Given the description of an element on the screen output the (x, y) to click on. 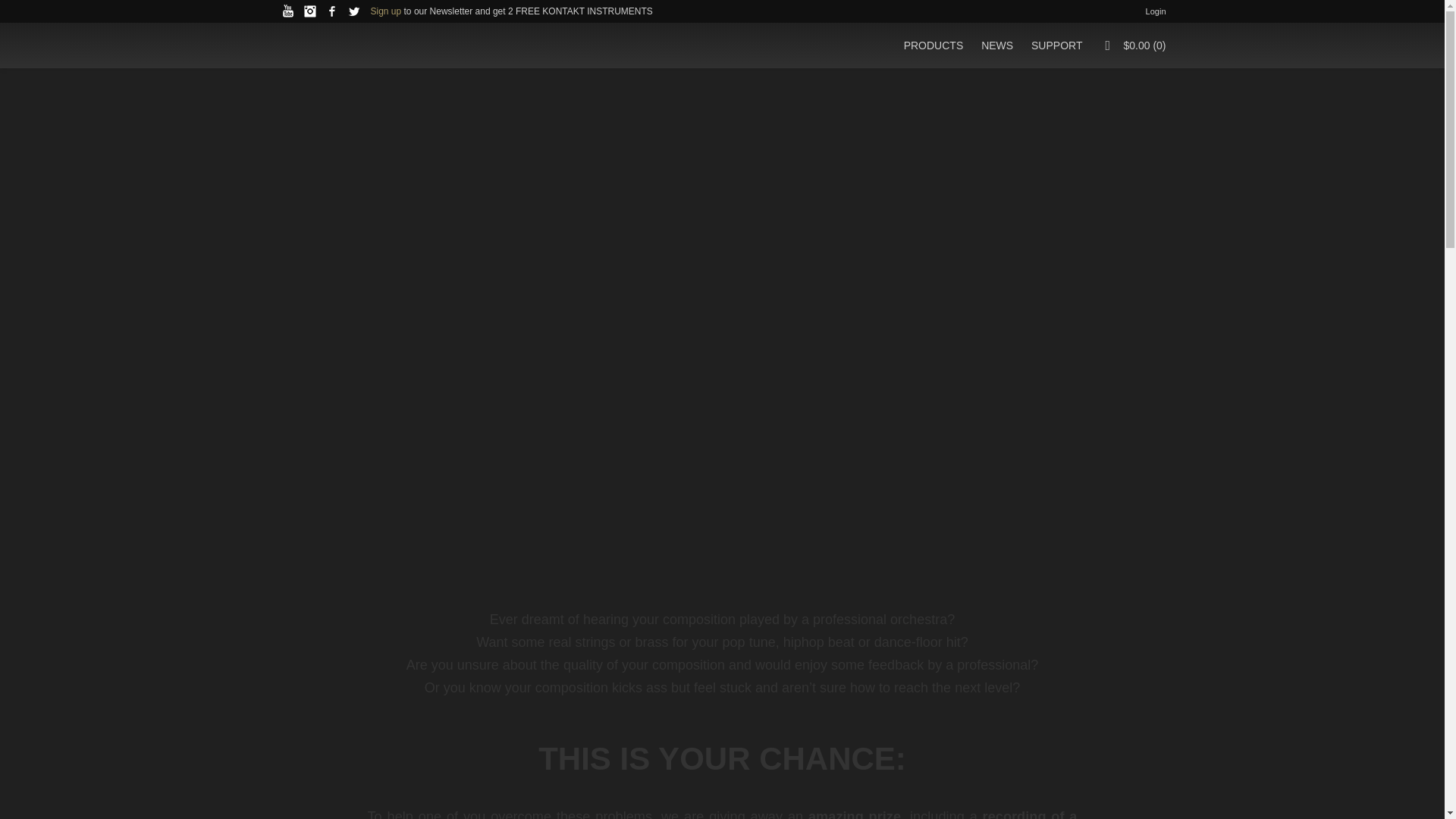
NEWS (997, 44)
Instagram (308, 11)
Login (1155, 11)
PRODUCTS (933, 44)
YouTube (288, 11)
Twitter (352, 11)
Sign up to our Newsletter and get 2 FREE KONTAKT INSTRUMENTS (507, 10)
View your Cart (1139, 44)
Facebook (331, 11)
SUPPORT (1056, 44)
